Given the description of an element on the screen output the (x, y) to click on. 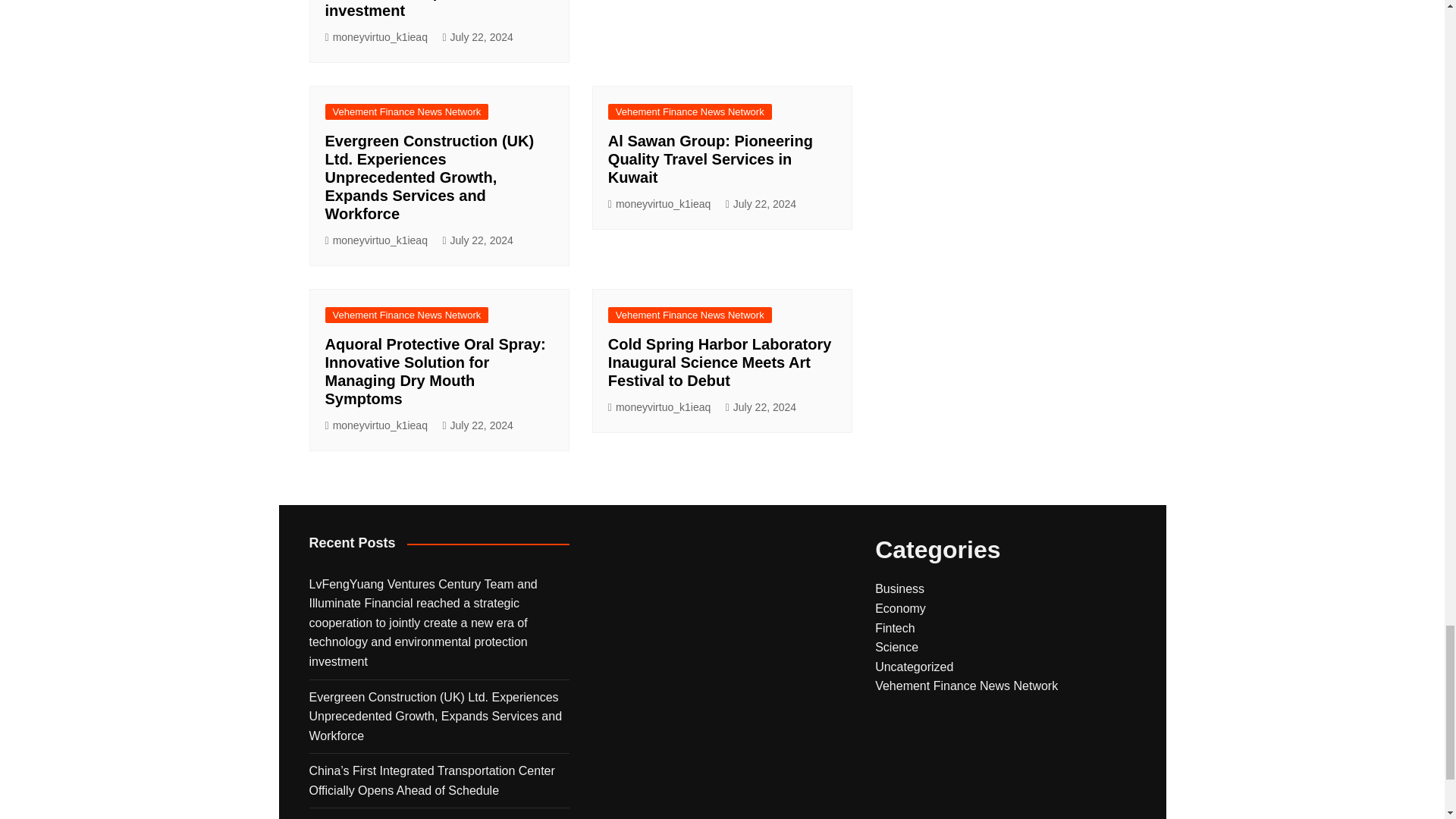
July 22, 2024 (477, 36)
